Given the description of an element on the screen output the (x, y) to click on. 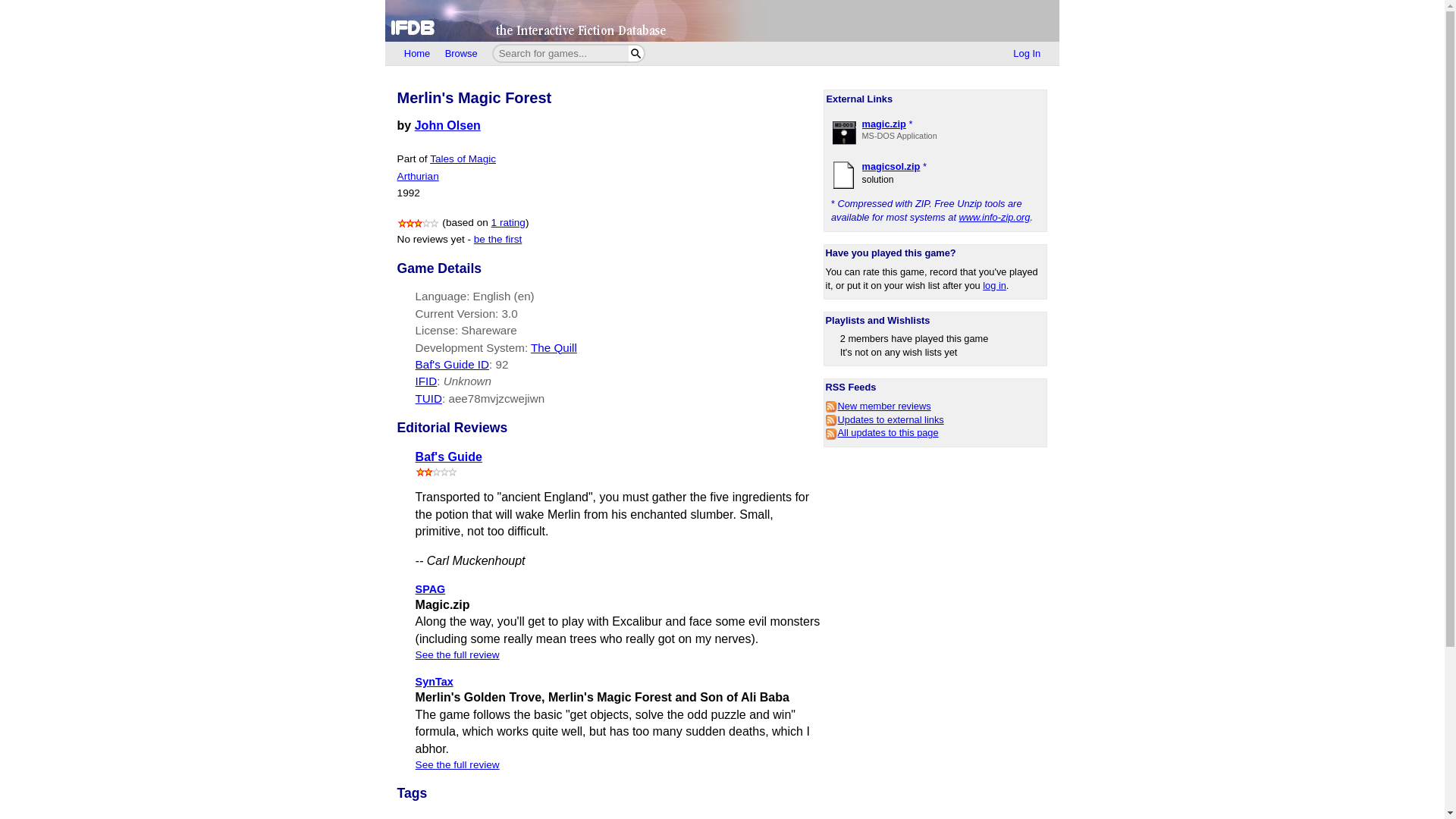
Go to the Baf's Guide listing for this game (501, 364)
Home (417, 53)
New member reviews (878, 405)
be the first (497, 238)
2 members have played this game (914, 337)
Go to Baf's Guide to the IF Archive (447, 456)
1 rating (508, 222)
The Quill (553, 347)
Updates to external links (884, 419)
It's not on any wish lists yet (899, 351)
2 Stars (436, 471)
SPAG (429, 589)
log in (994, 285)
John Olsen (447, 124)
Log In (1027, 53)
